Given the description of an element on the screen output the (x, y) to click on. 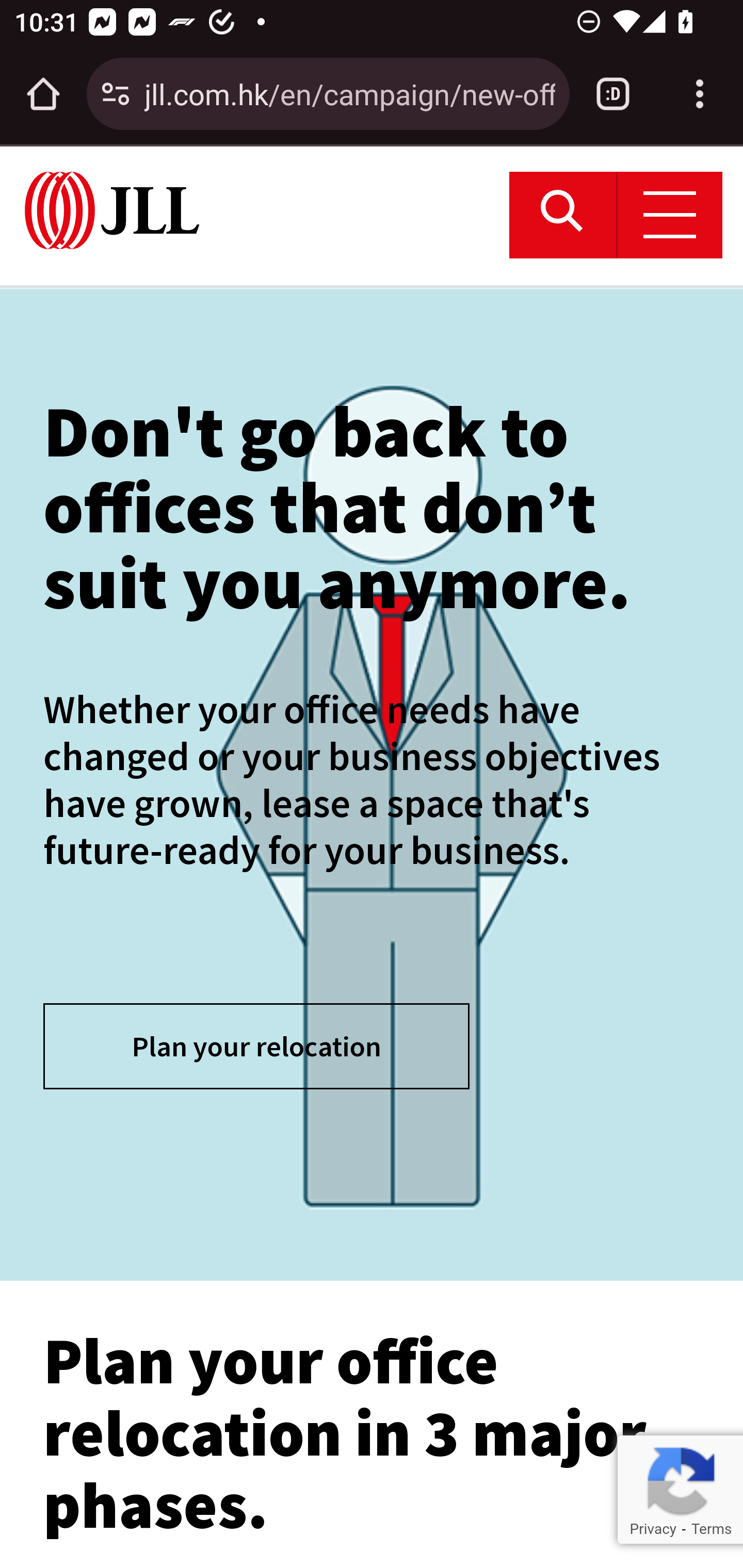
Open the home page (43, 93)
Connection is secure (115, 93)
Switch or close tabs (612, 93)
Customize and control Google Chrome (699, 93)
JLL Hong Kong (112, 209)
search (562, 214)
Plan your relocation (256, 1045)
Privacy (652, 1528)
Terms (711, 1528)
